Given the description of an element on the screen output the (x, y) to click on. 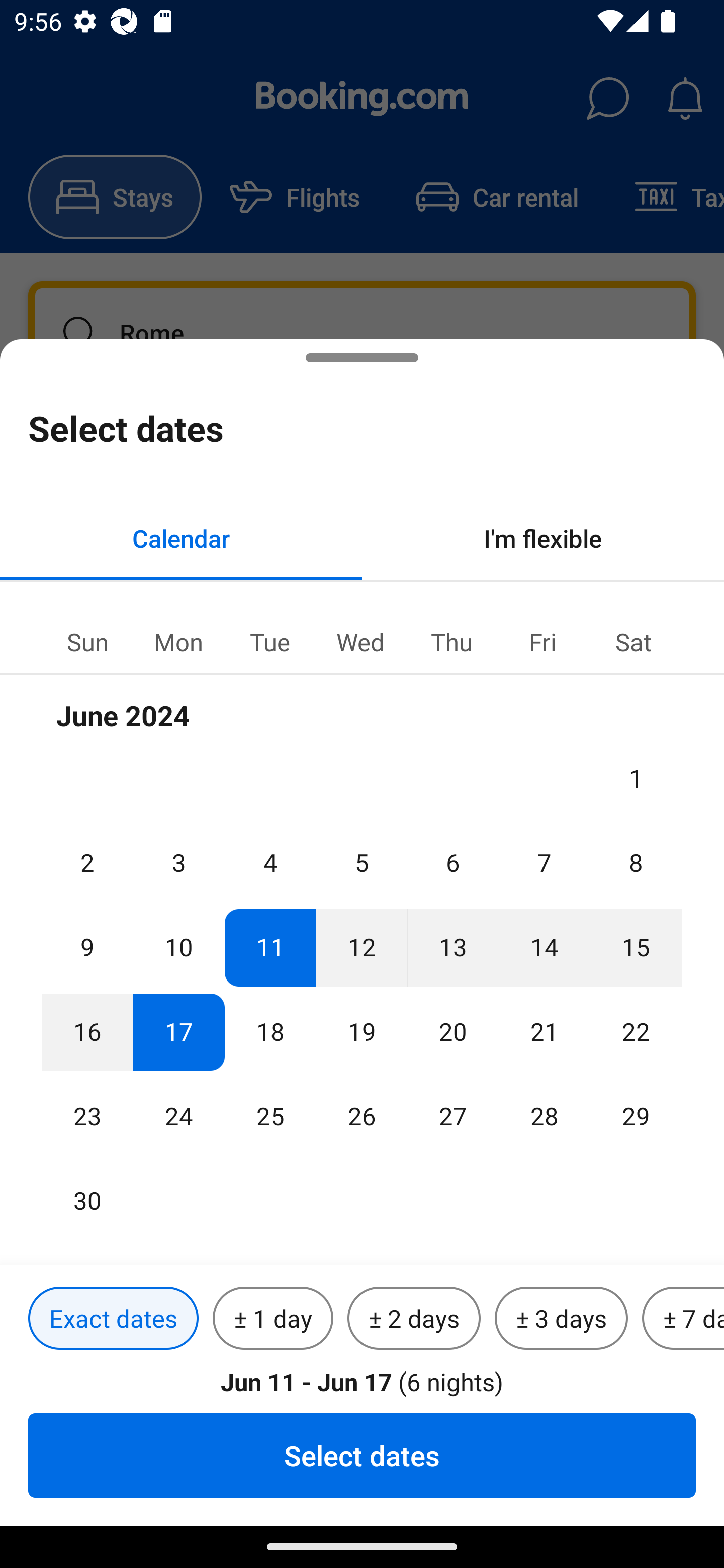
I'm flexible (543, 537)
Exact dates (113, 1318)
± 1 day (272, 1318)
± 2 days (413, 1318)
± 3 days (560, 1318)
± 7 days (683, 1318)
Select dates (361, 1454)
